Given the description of an element on the screen output the (x, y) to click on. 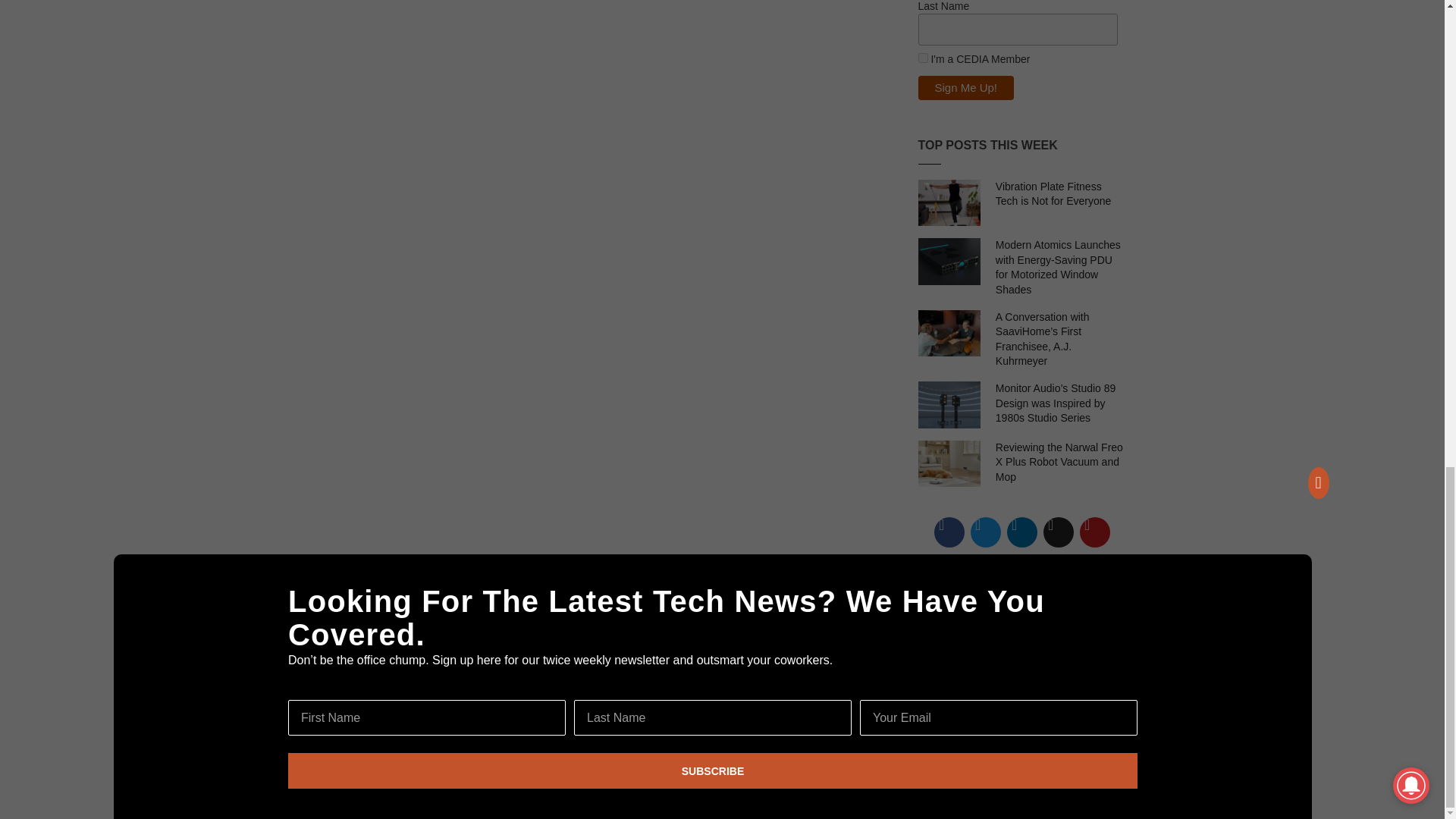
Sign Me Up! (965, 87)
e11e2e2e8f (922, 58)
Sign Me Up! (965, 87)
